Given the description of an element on the screen output the (x, y) to click on. 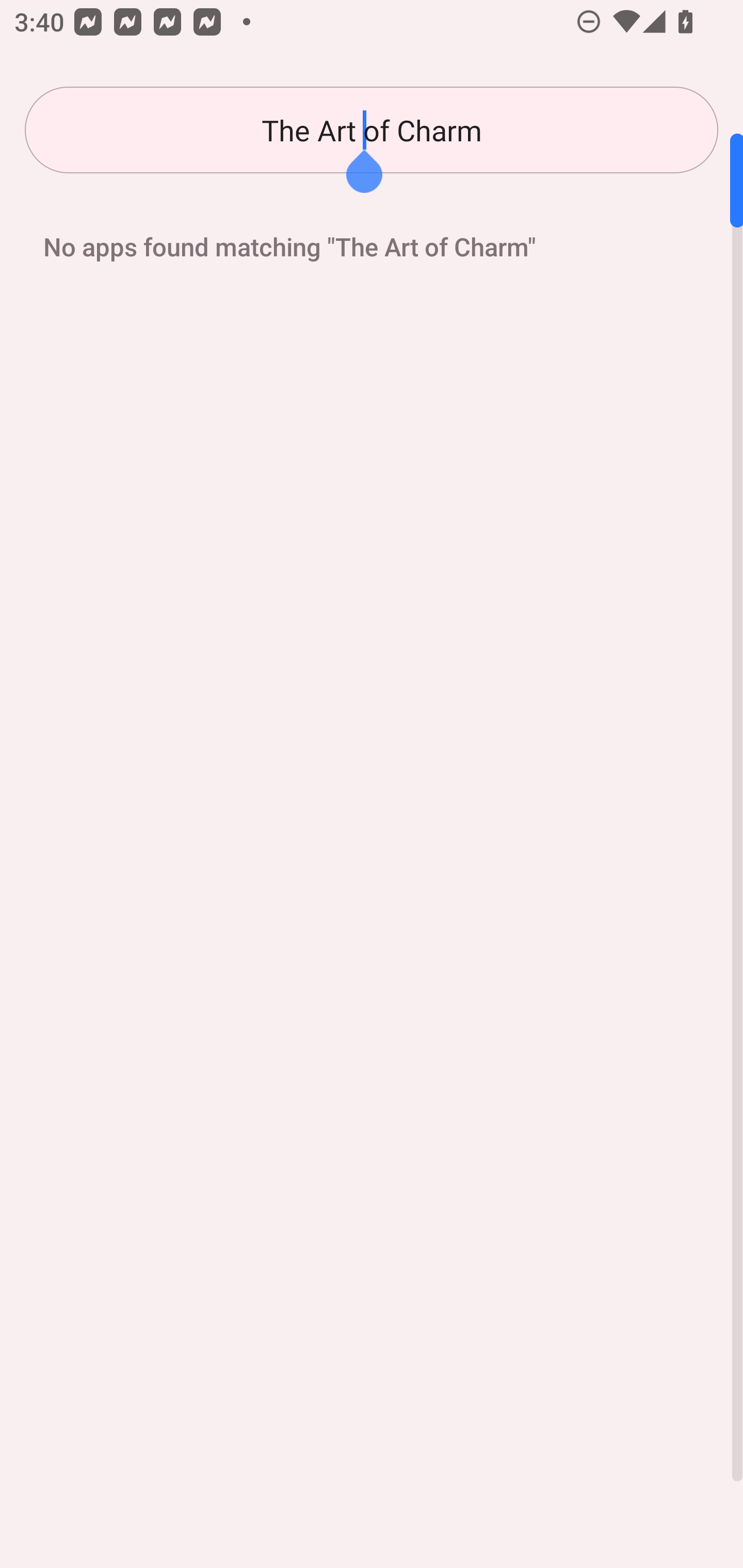
The Art of Charm (371, 130)
